Given the description of an element on the screen output the (x, y) to click on. 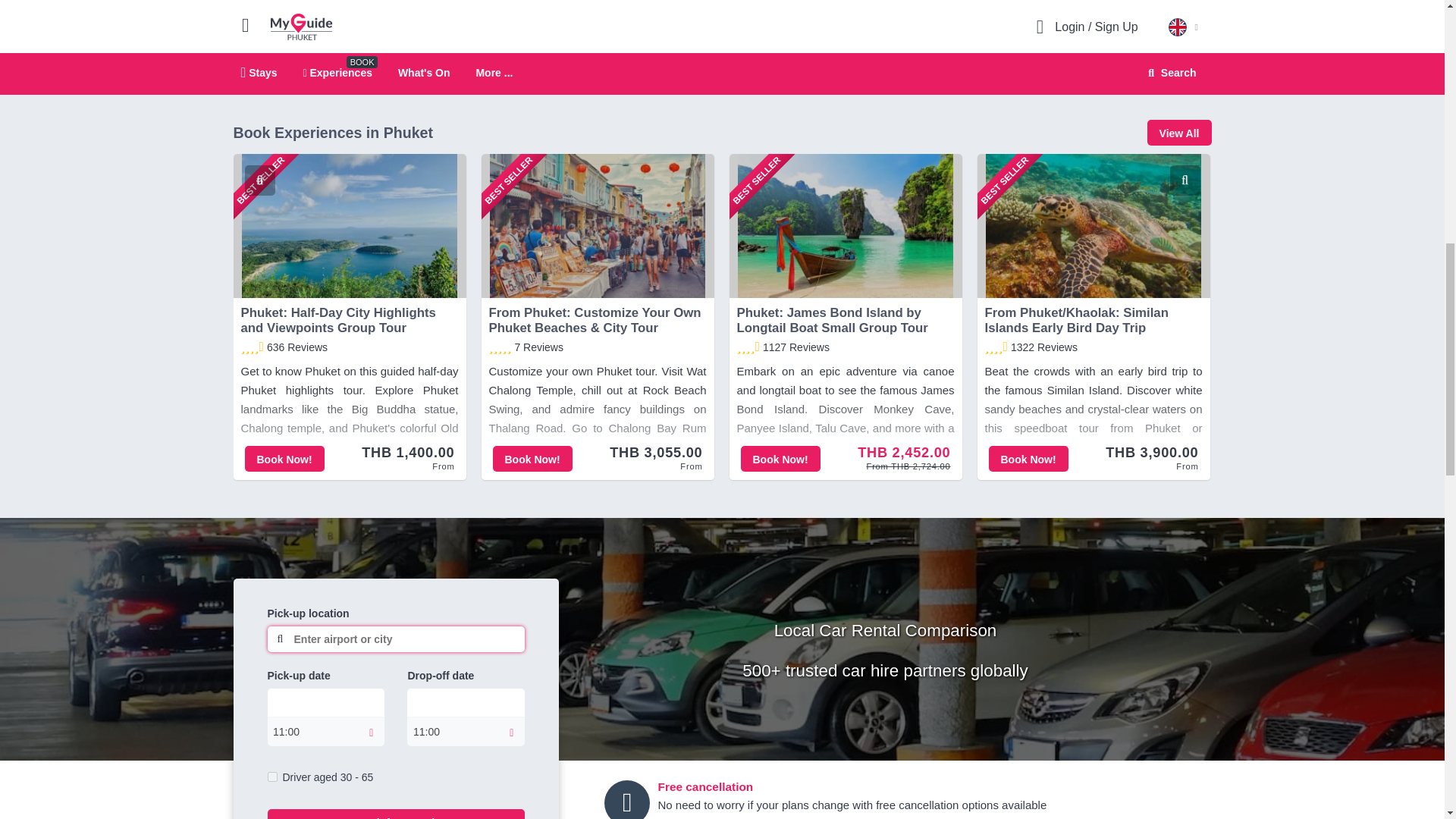
on (271, 777)
GetYourGuide Widget (346, 25)
